Given the description of an element on the screen output the (x, y) to click on. 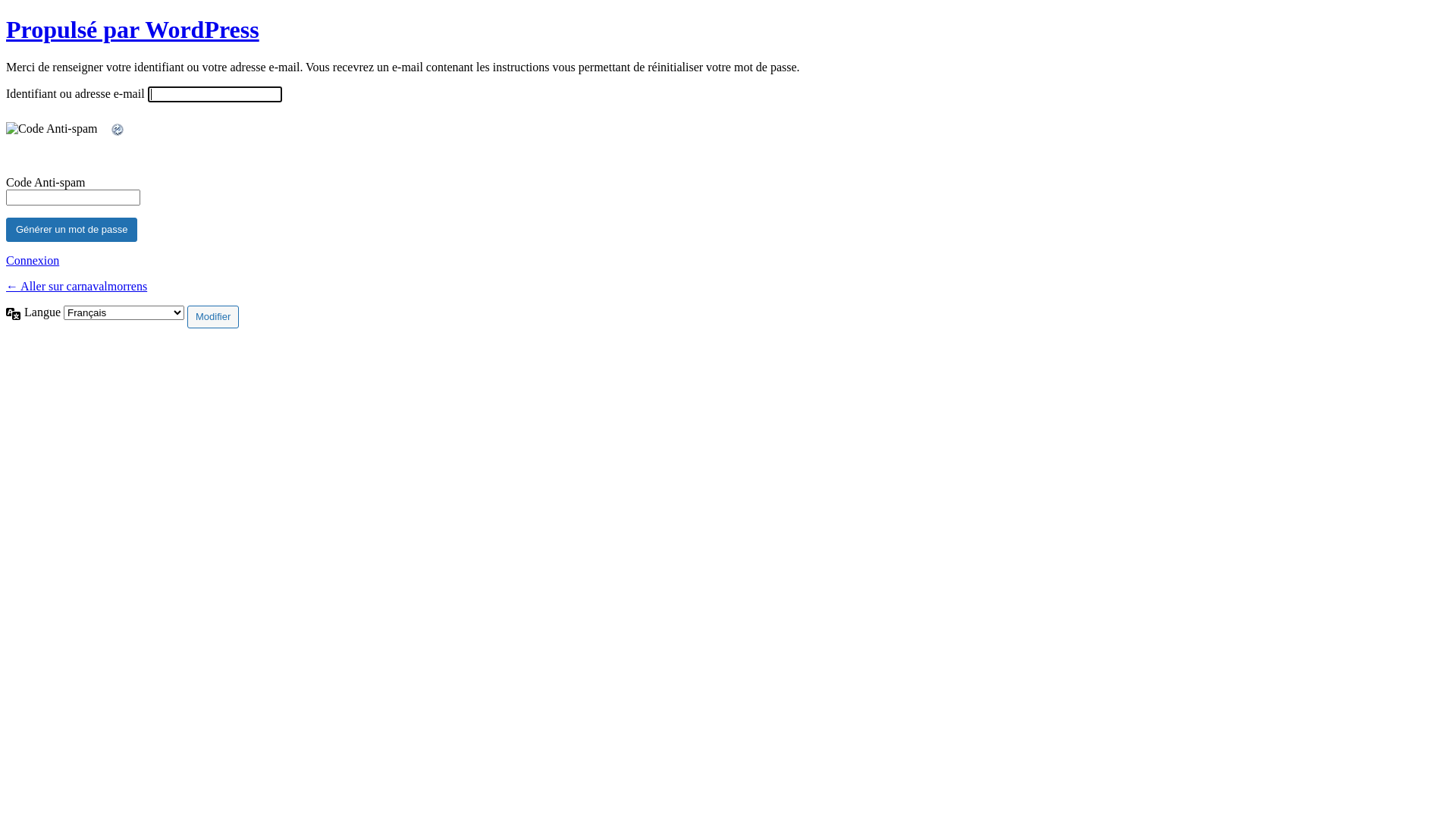
Modifier Element type: text (212, 316)
Code Anti-spam Element type: hover (57, 139)
Connexion Element type: text (32, 260)
